Given the description of an element on the screen output the (x, y) to click on. 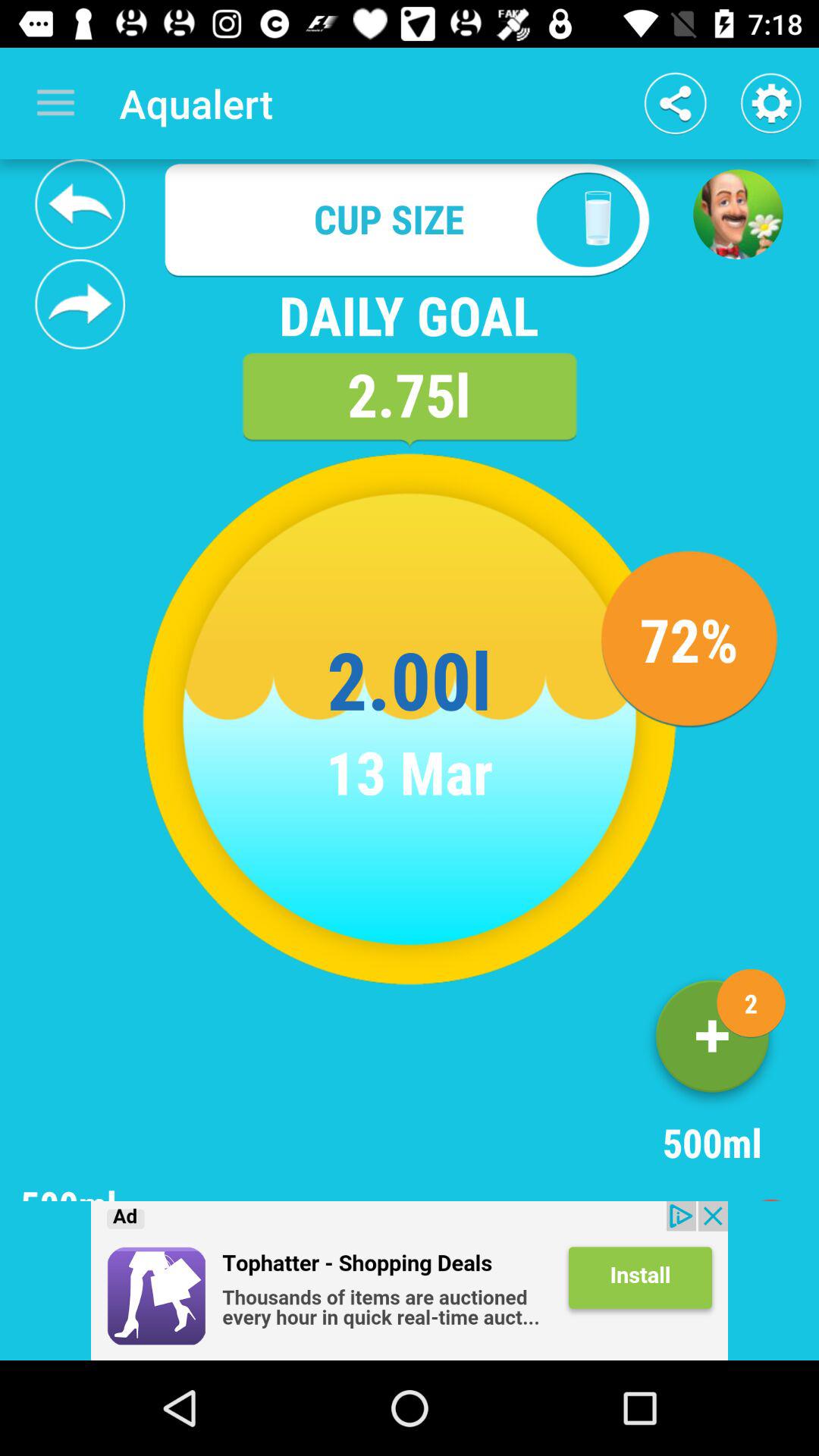
go to next user (80, 304)
